Given the description of an element on the screen output the (x, y) to click on. 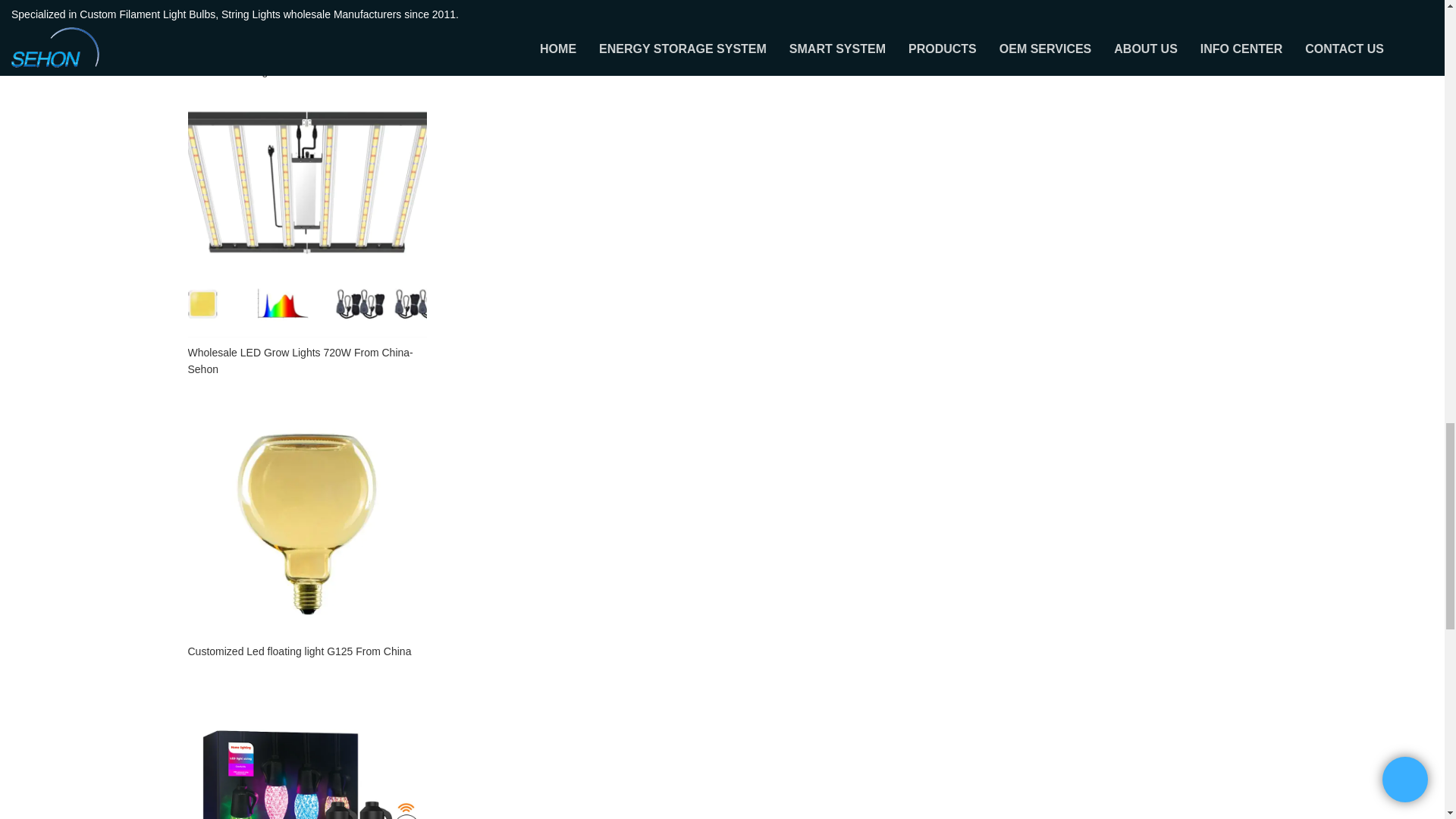
Wholesale LED Grow Lights 720W From China-Sehon (306, 360)
Customized Led floating light G125 From China (306, 651)
